Given the description of an element on the screen output the (x, y) to click on. 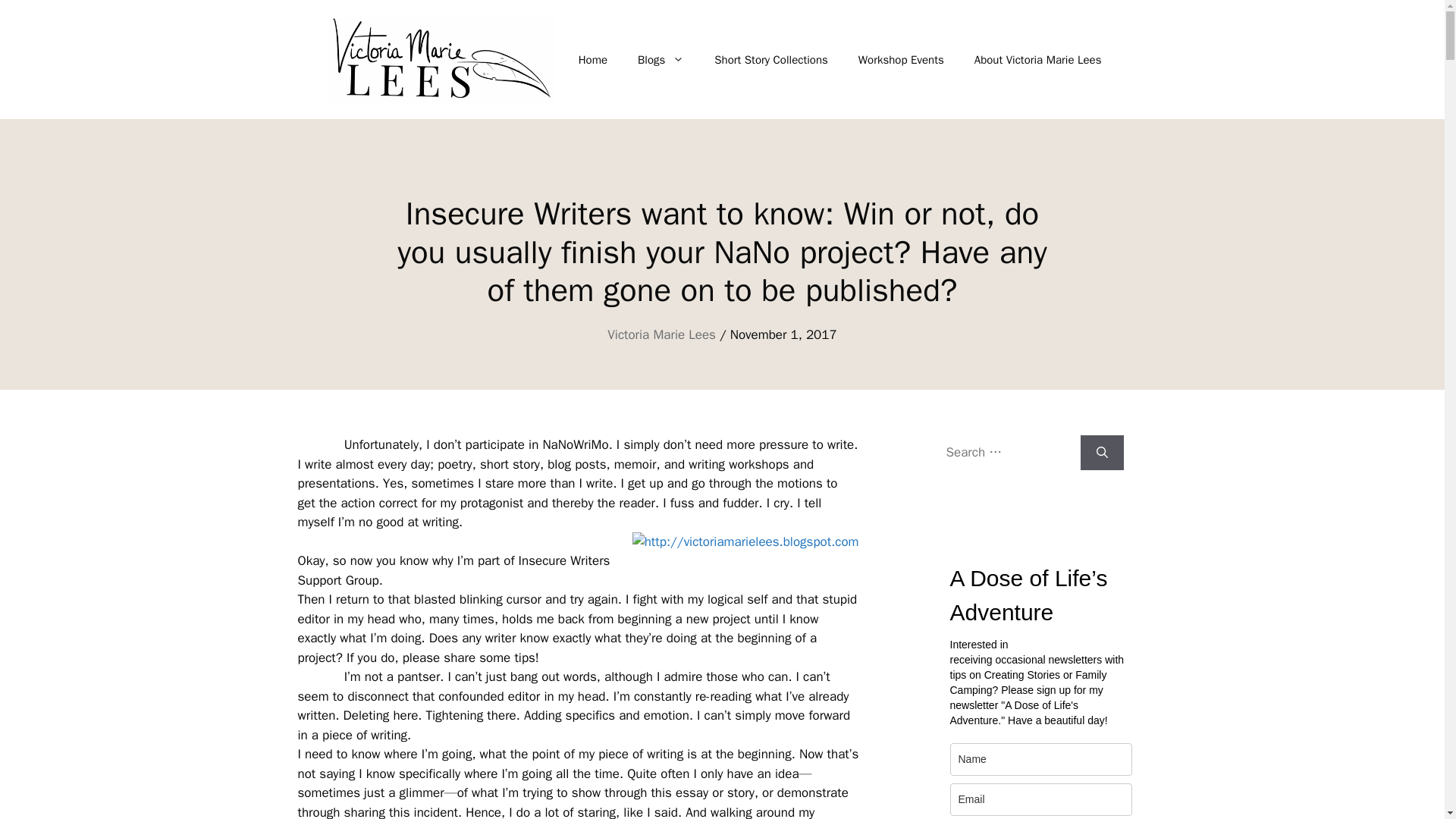
Home (593, 59)
Victoria Marie Lees (661, 334)
Short Story Collections (770, 59)
Search for: (1007, 452)
Blogs (660, 59)
Workshop Events (901, 59)
About Victoria Marie Lees (1037, 59)
